Given the description of an element on the screen output the (x, y) to click on. 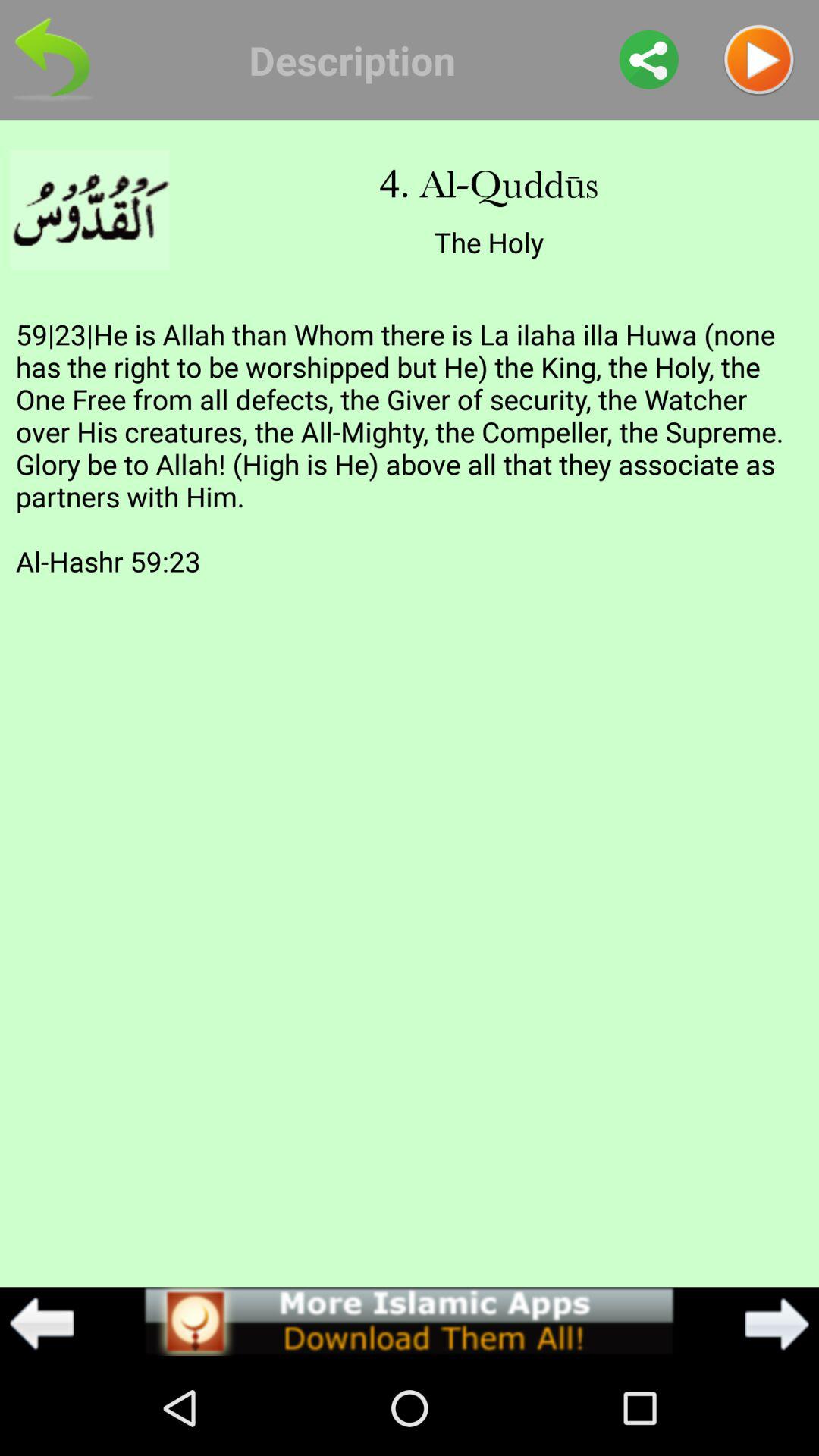
choose item at the bottom right corner (776, 1323)
